Given the description of an element on the screen output the (x, y) to click on. 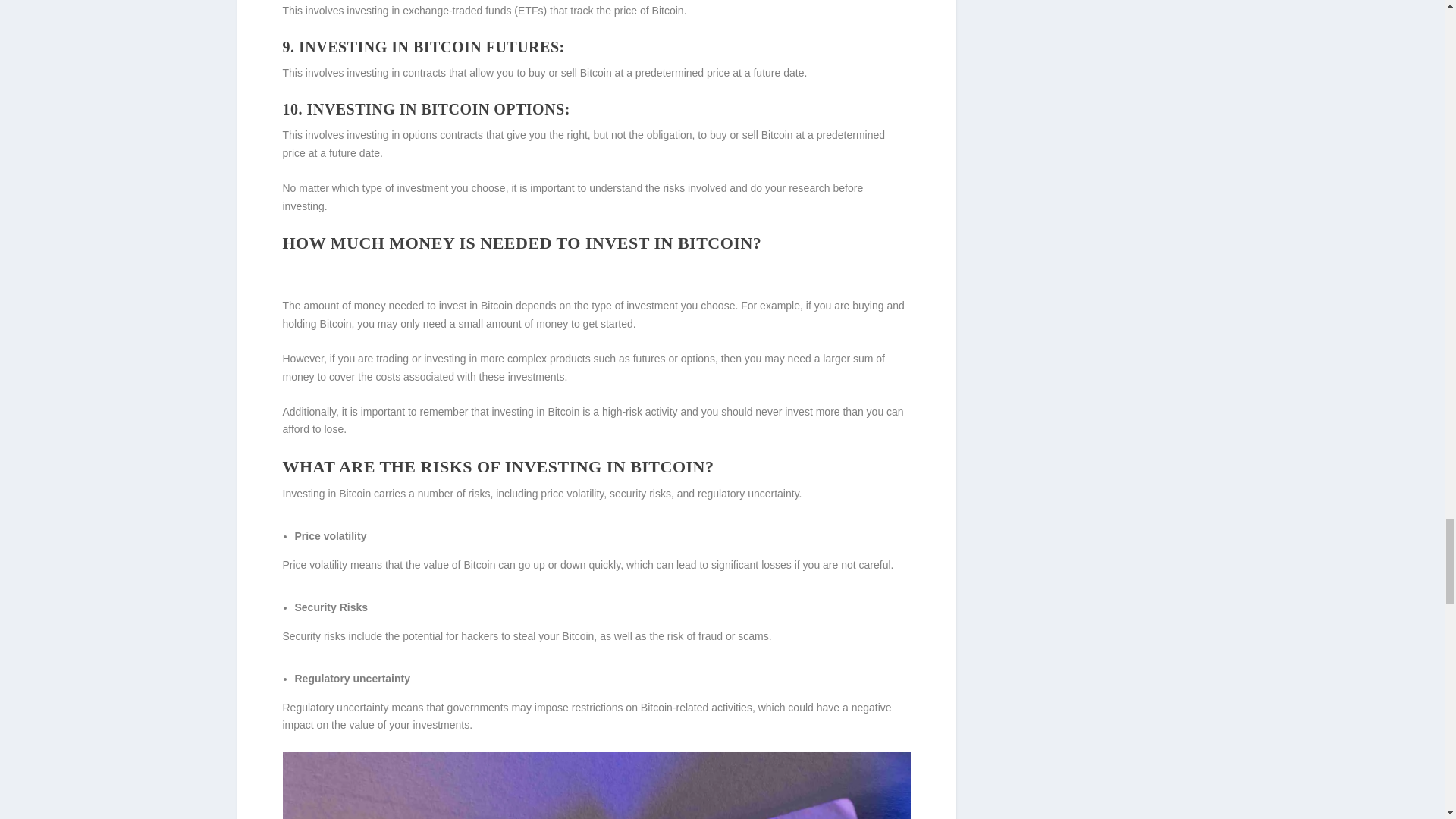
How To Invest In Bitcoin And Make Money 3 (596, 785)
